Given the description of an element on the screen output the (x, y) to click on. 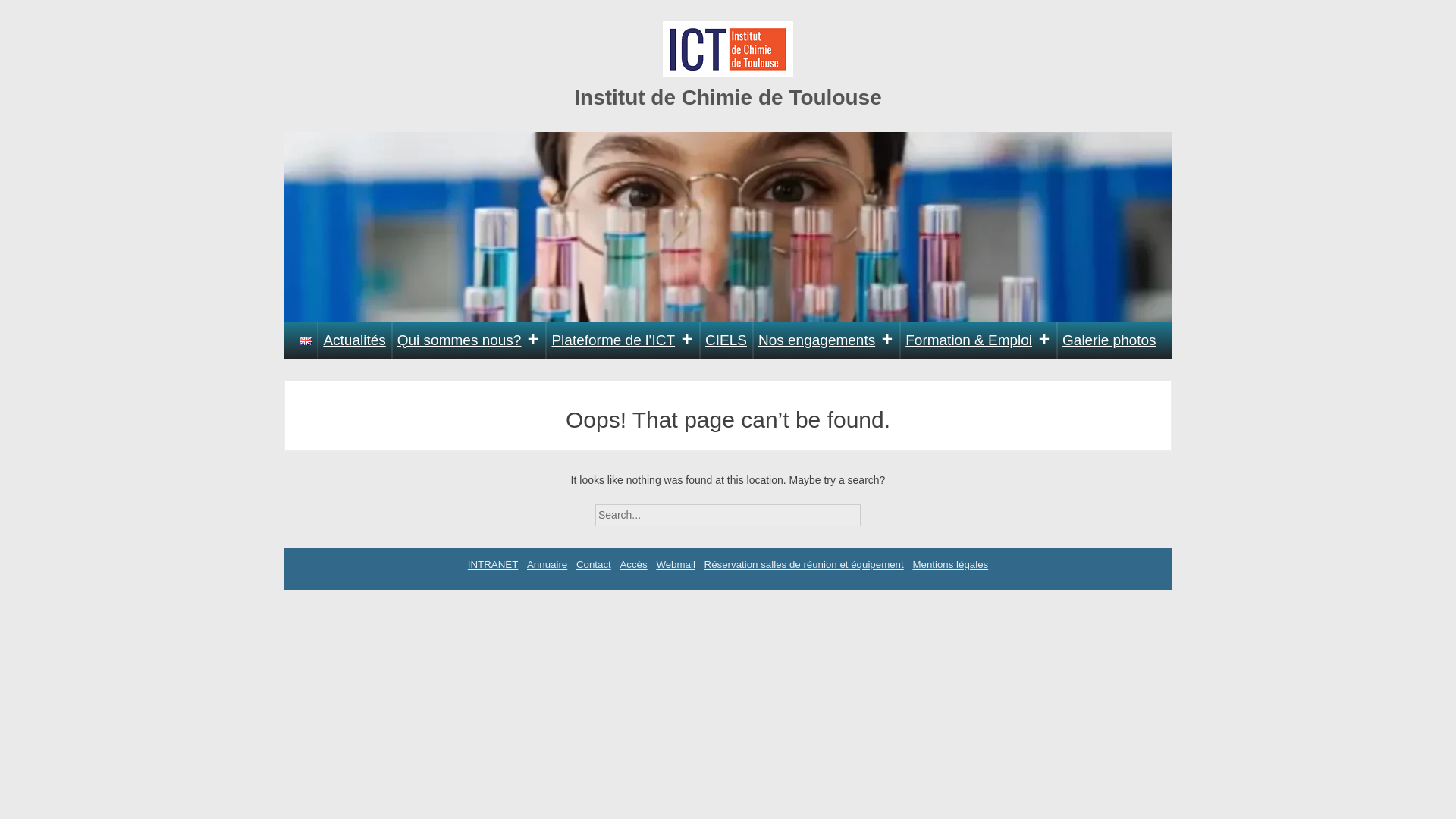
Search (873, 509)
Search (873, 509)
Nos engagements (825, 340)
CIELS (726, 340)
Institut de Chimie de Toulouse (727, 97)
Qui sommes nous? (468, 340)
